Given the description of an element on the screen output the (x, y) to click on. 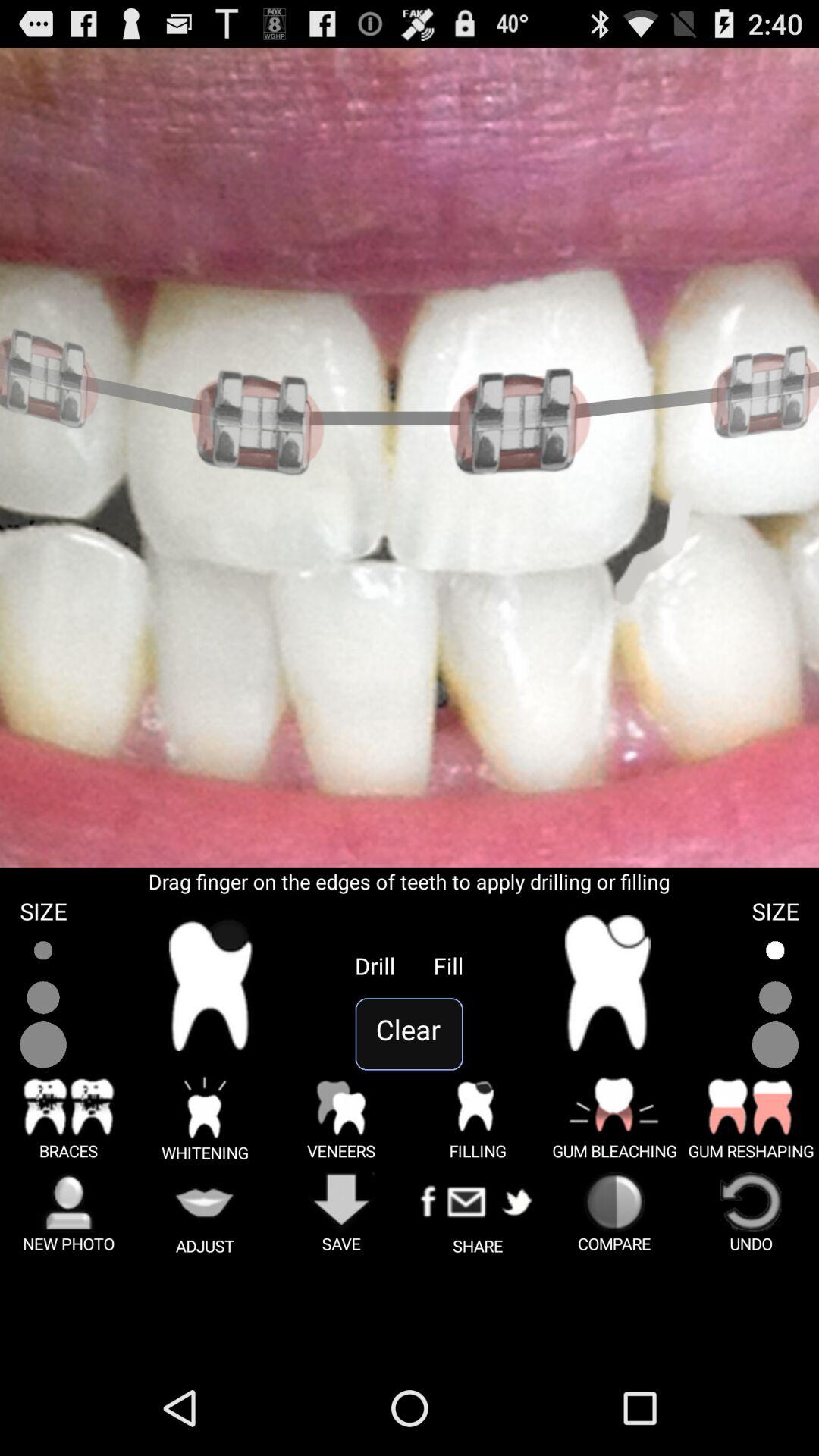
indicates a tooth with a filling (607, 983)
